Given the description of an element on the screen output the (x, y) to click on. 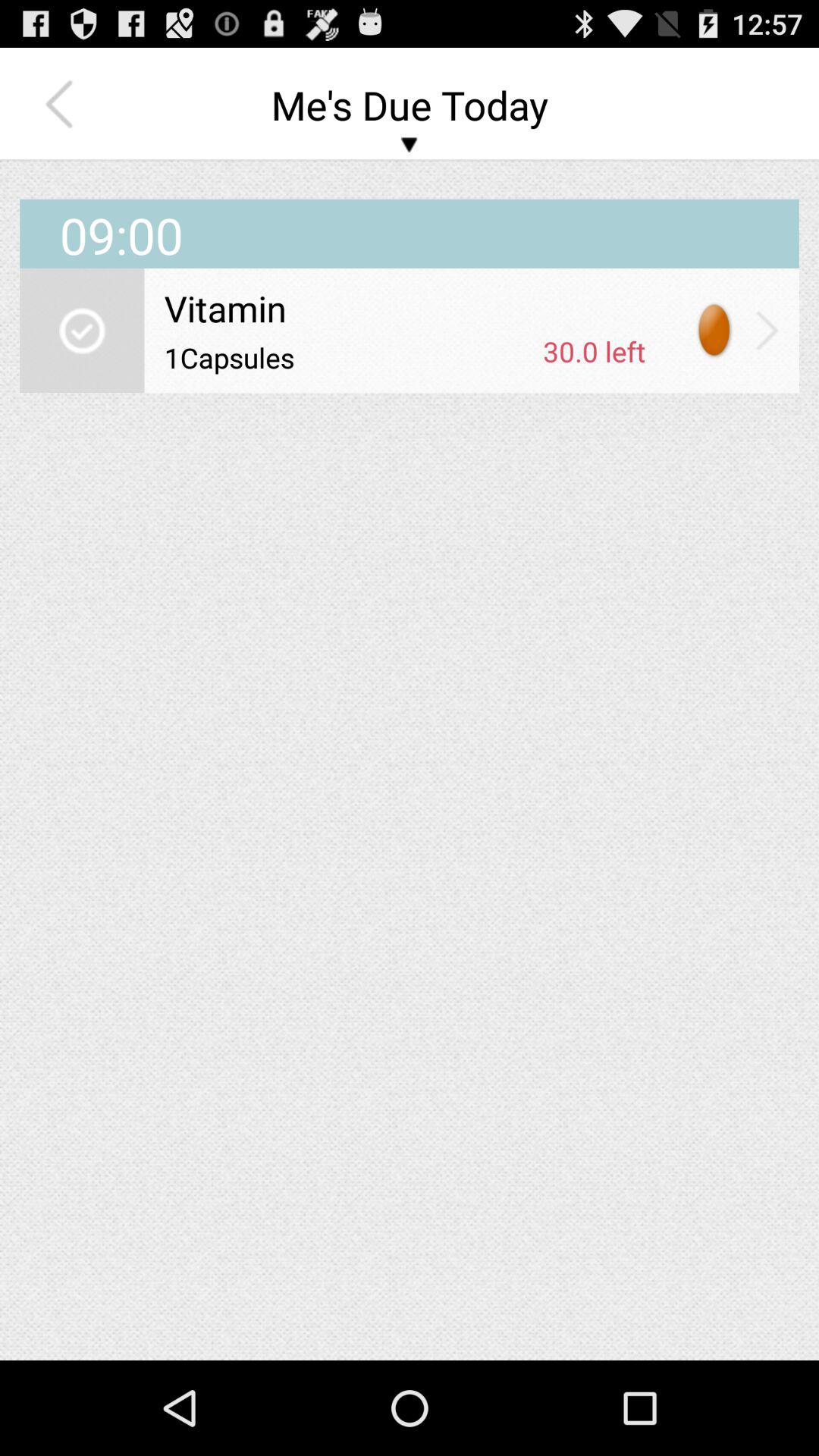
tap the vitamin item (404, 308)
